Given the description of an element on the screen output the (x, y) to click on. 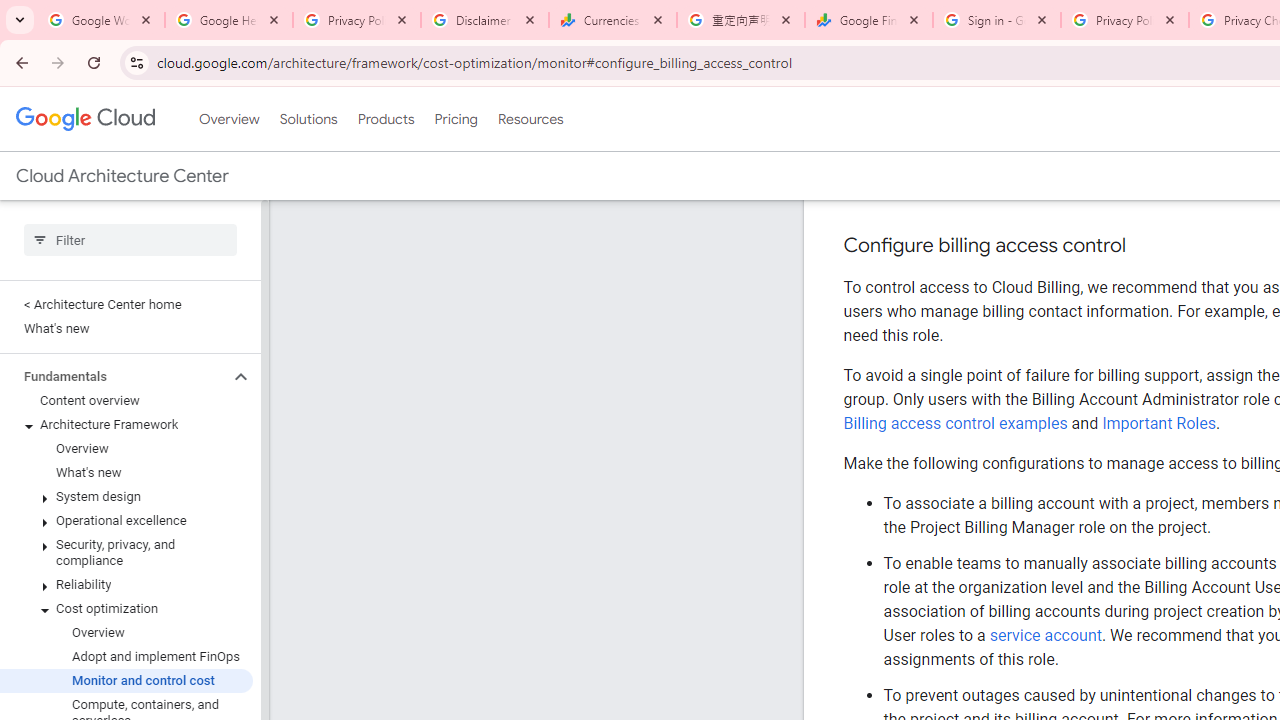
Google Cloud (84, 118)
Cloud Architecture Center (122, 175)
Type to filter (130, 239)
Cost optimization (126, 608)
Sign in - Google Accounts (997, 20)
Content overview (126, 400)
Monitor and control cost (126, 680)
Currencies - Google Finance (613, 20)
Products (385, 119)
Pricing (455, 119)
Solutions (308, 119)
